Given the description of an element on the screen output the (x, y) to click on. 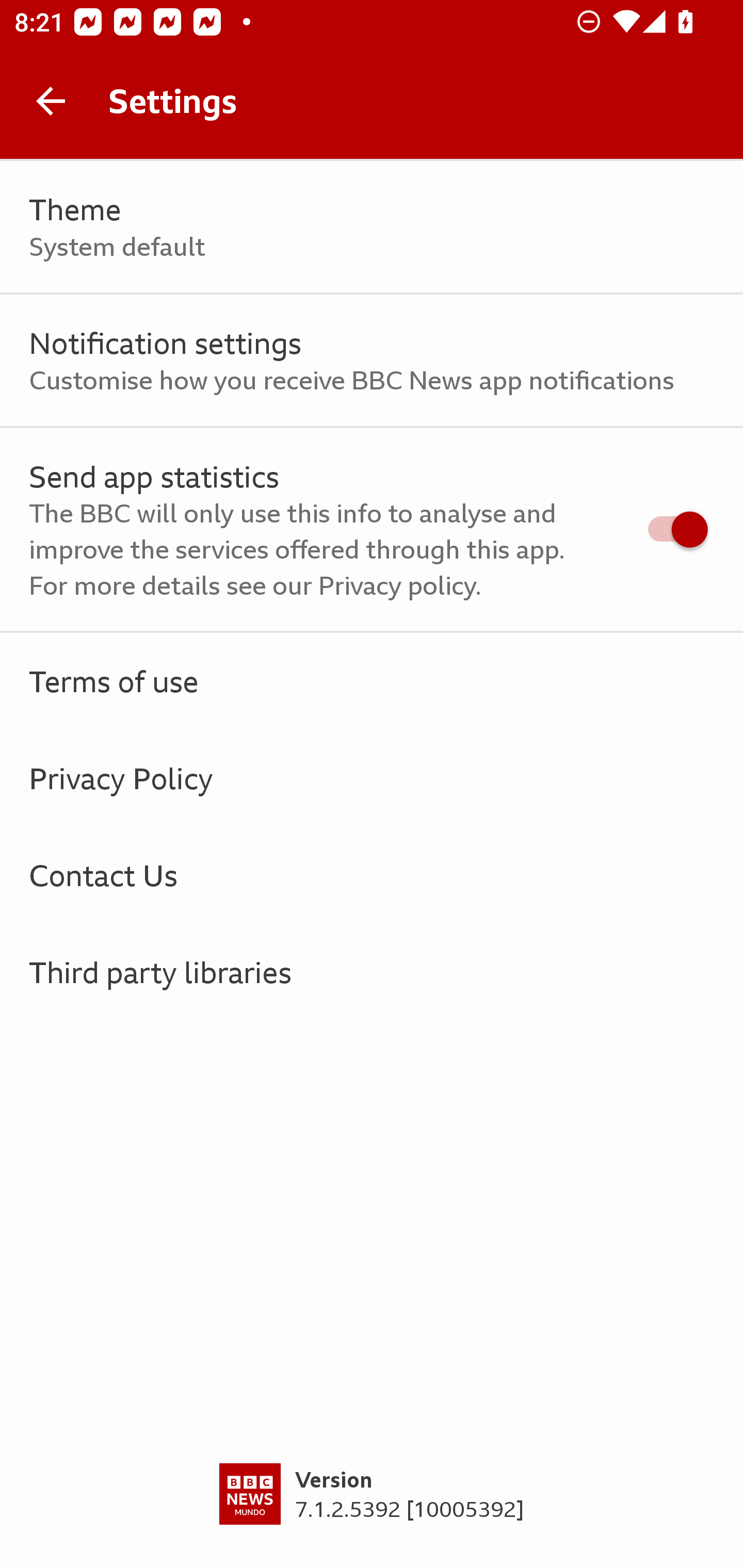
Back (50, 101)
Theme System default (371, 227)
Terms of use (371, 681)
Privacy Policy (371, 777)
Contact Us (371, 874)
Third party libraries (371, 971)
Version 7.1.2.5392 [10005392] (371, 1515)
